Given the description of an element on the screen output the (x, y) to click on. 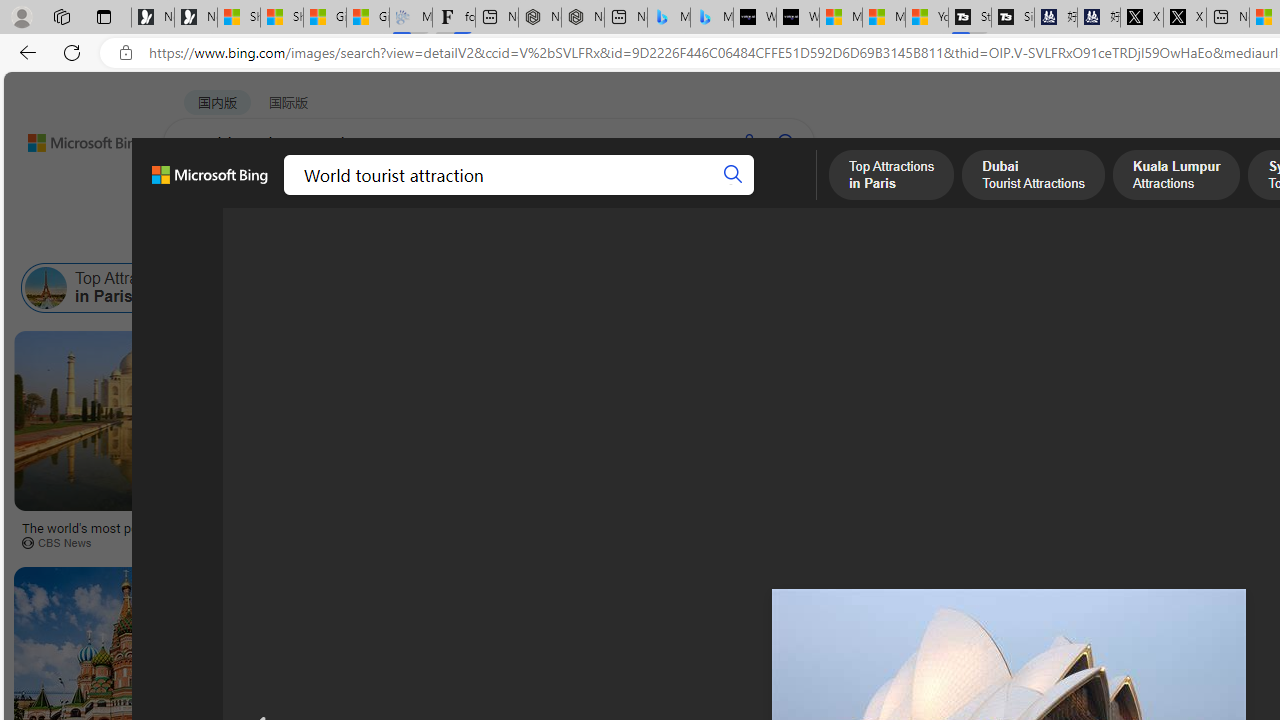
Newsletter Sign Up (196, 17)
DICT (630, 195)
Image size (222, 237)
Attractions in Italy (1039, 287)
Microsoft Bing, Back to Bing search (209, 183)
X (1184, 17)
People (521, 237)
MORE (779, 195)
VIDEOS (458, 195)
MAPS (698, 195)
Image size (221, 237)
Top Attractions in Paris (110, 287)
